Given the description of an element on the screen output the (x, y) to click on. 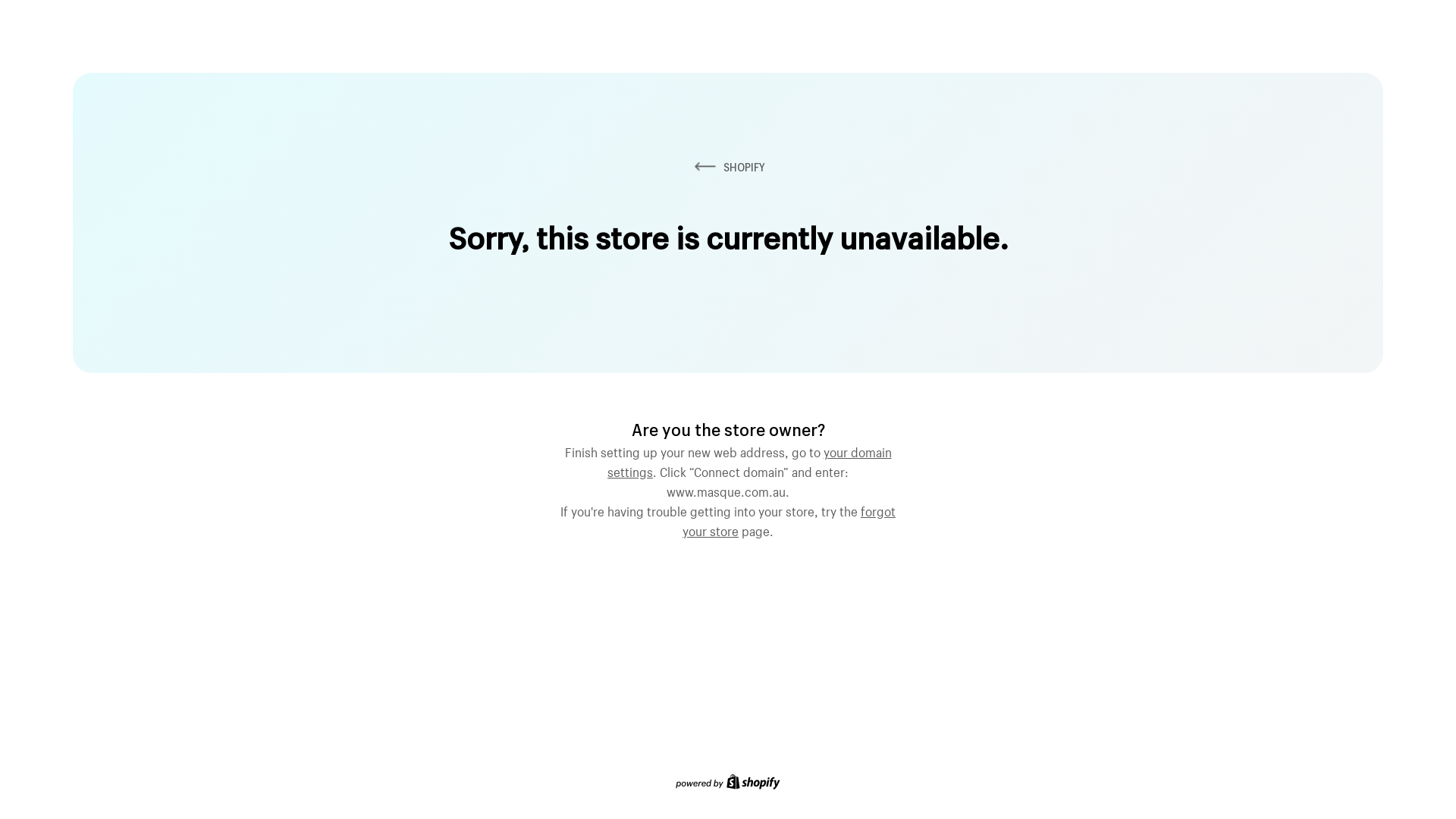
forgot your store Element type: text (788, 519)
your domain settings Element type: text (749, 460)
SHOPIFY Element type: text (727, 167)
